Given the description of an element on the screen output the (x, y) to click on. 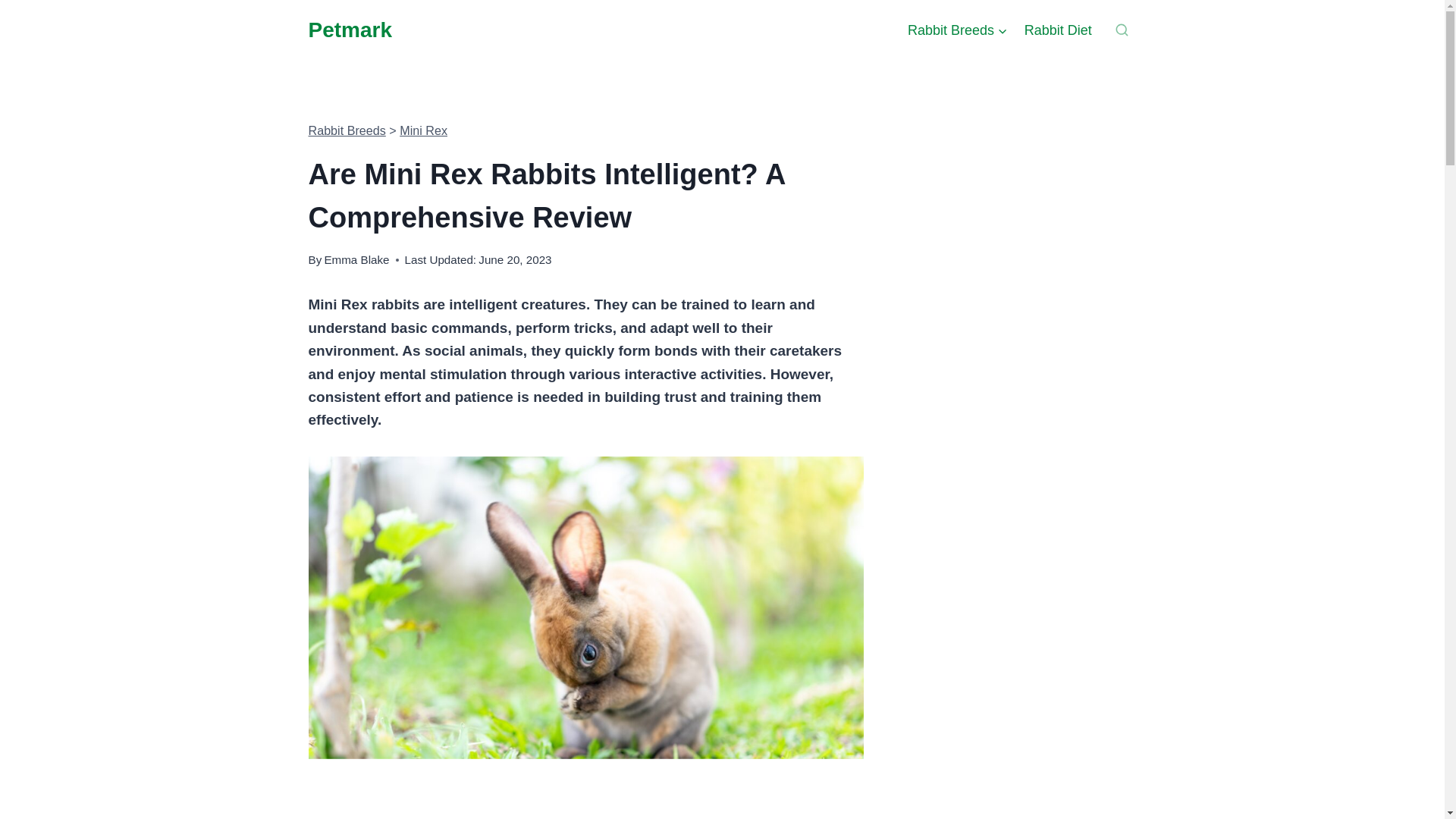
Petmark (349, 30)
Rabbit Breeds (346, 130)
Rabbit Breeds (957, 30)
Emma Blake (355, 259)
Mini Rex (422, 130)
Rabbit Diet (1058, 30)
